Given the description of an element on the screen output the (x, y) to click on. 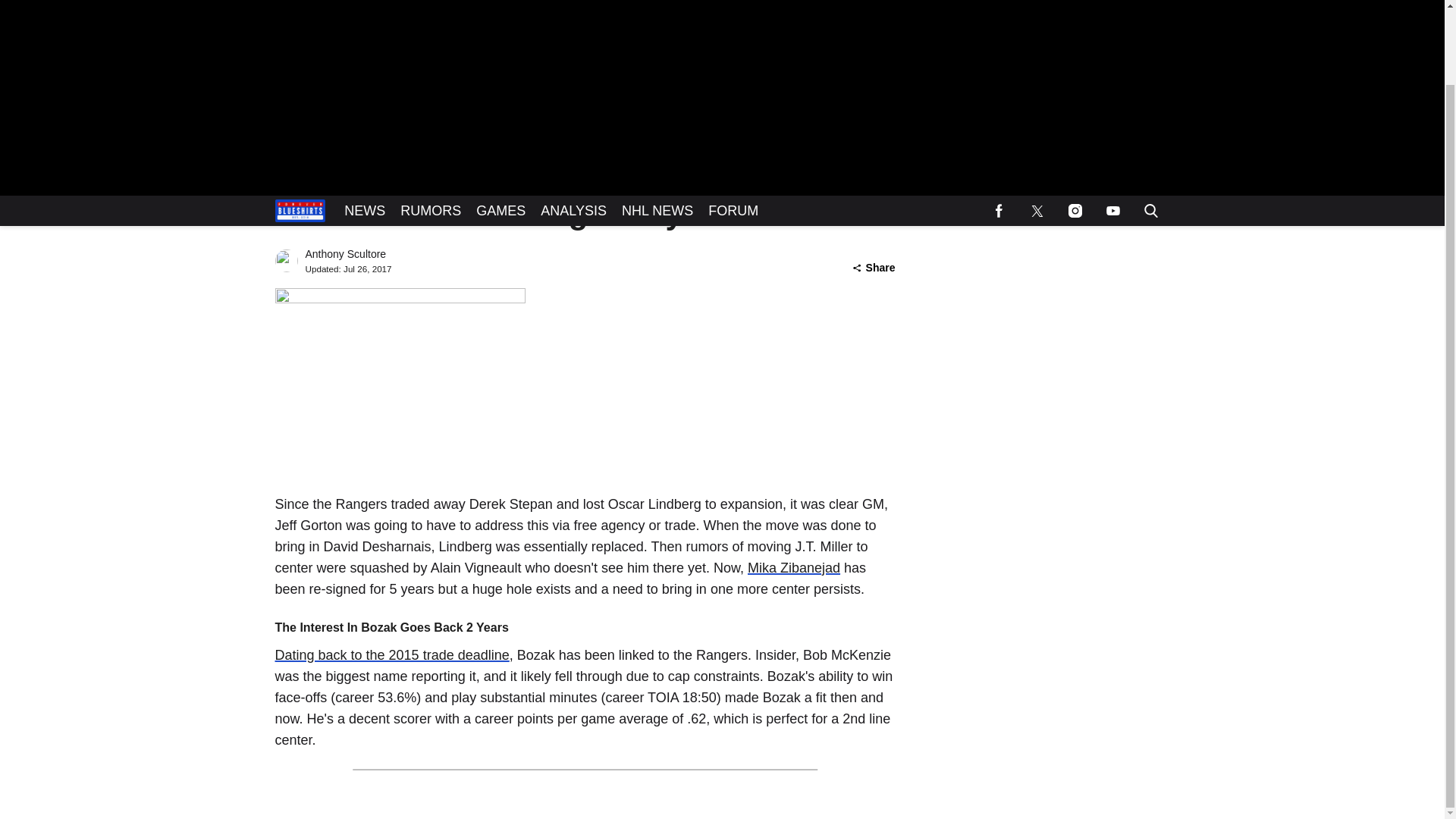
Follow us on Instagram (1074, 127)
Dating back to the 2015 trade deadline (391, 654)
Posts by Anthony Scultore (344, 254)
ANALYSIS (573, 127)
NEWS (364, 127)
Follow us on Facebook (998, 127)
Anthony Scultore (344, 254)
Mika Zibanejad (794, 566)
Mika Zibanejad (794, 566)
Follow us on Twitter (1036, 127)
